Given the description of an element on the screen output the (x, y) to click on. 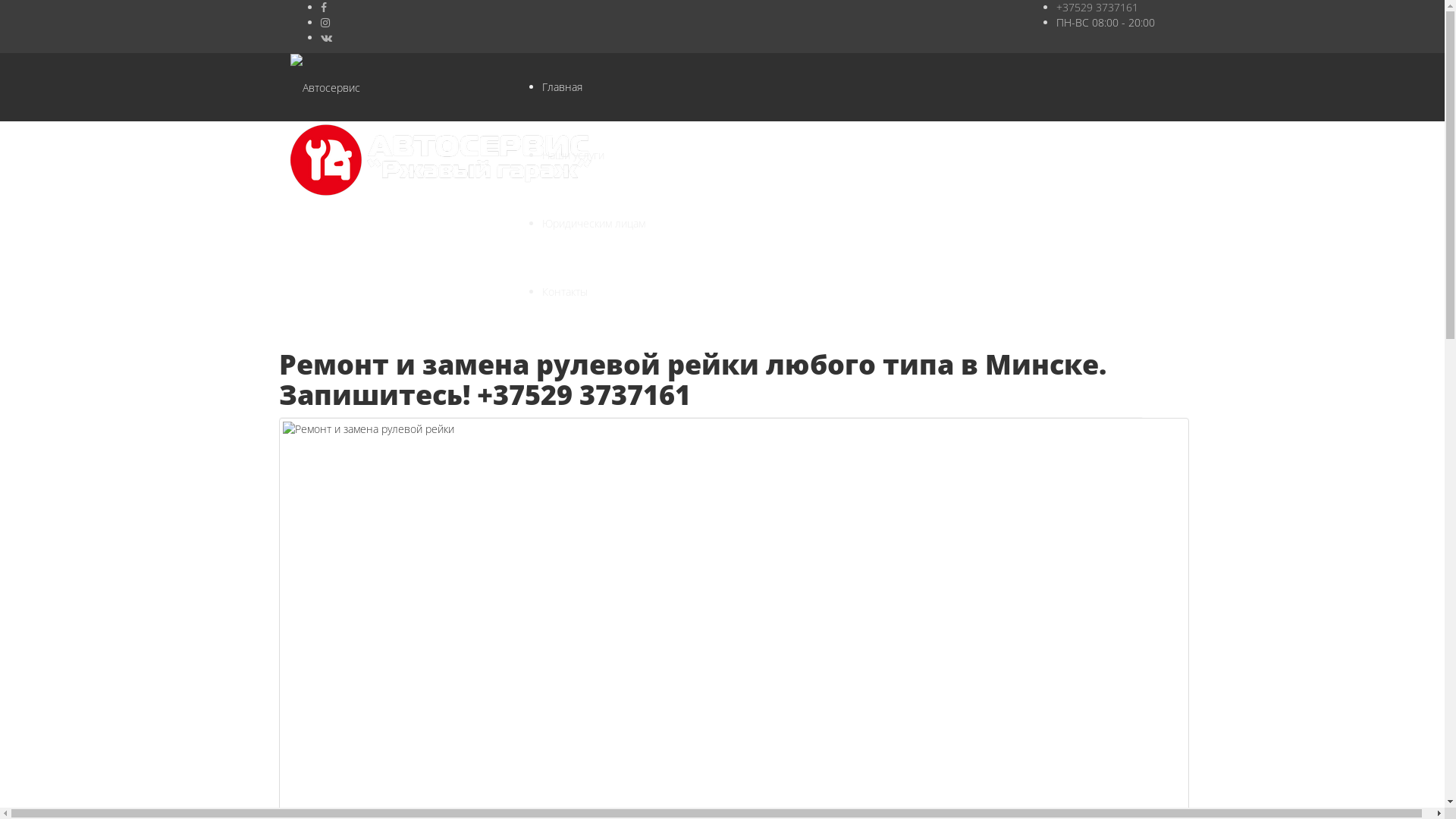
+37529 3737161 Element type: text (1096, 7)
